Given the description of an element on the screen output the (x, y) to click on. 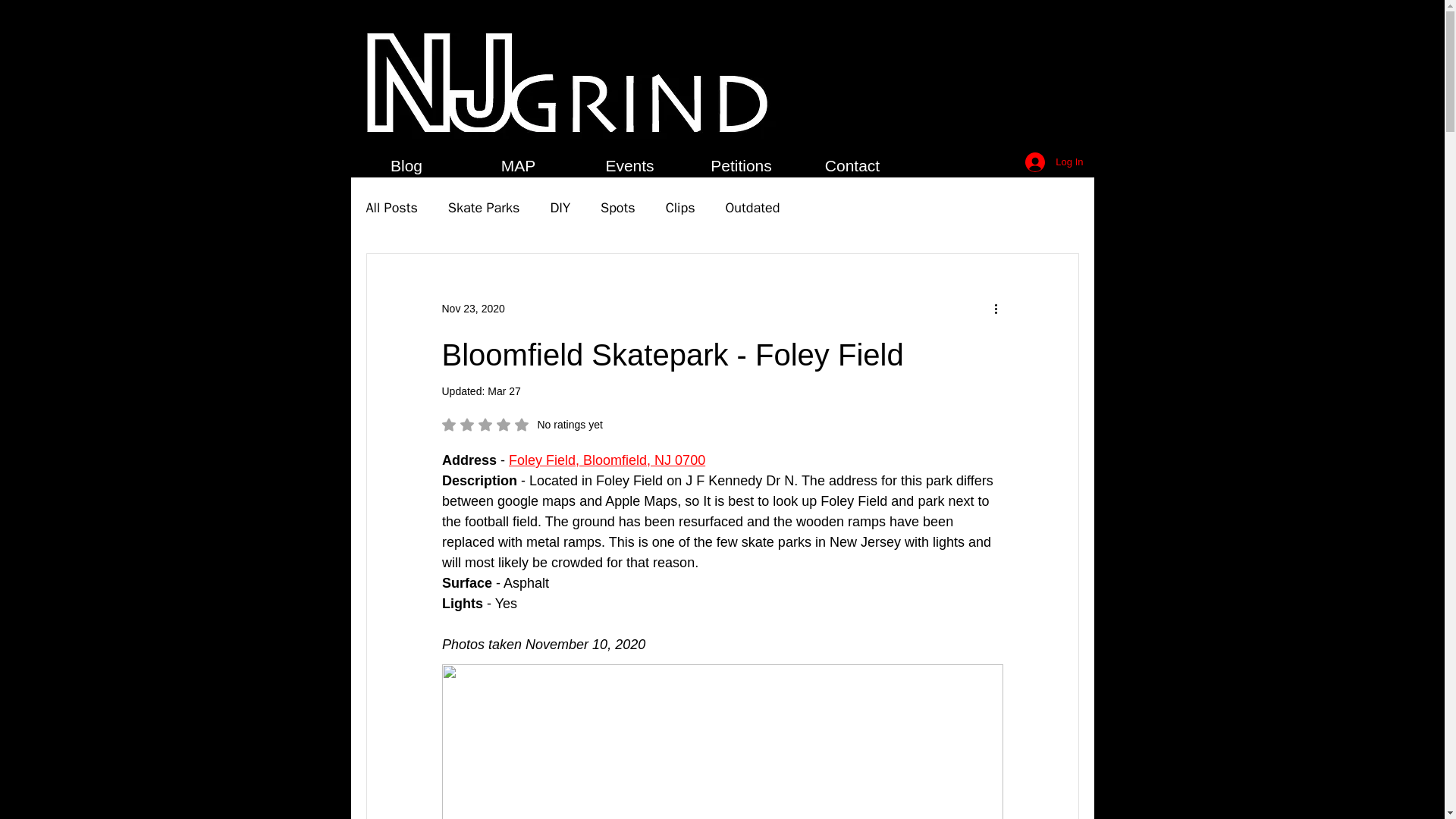
Events (628, 165)
Spots (616, 208)
Clips (680, 208)
Log In (1053, 162)
Contact (851, 165)
Blog (405, 165)
Foley Field, Bloomfield, NJ 0700 (606, 459)
Petitions (740, 165)
All Posts (390, 208)
DIY (560, 208)
Nov 23, 2020 (472, 307)
Outdated (751, 208)
Mar 27 (504, 390)
Skate Parks (521, 424)
